Given the description of an element on the screen output the (x, y) to click on. 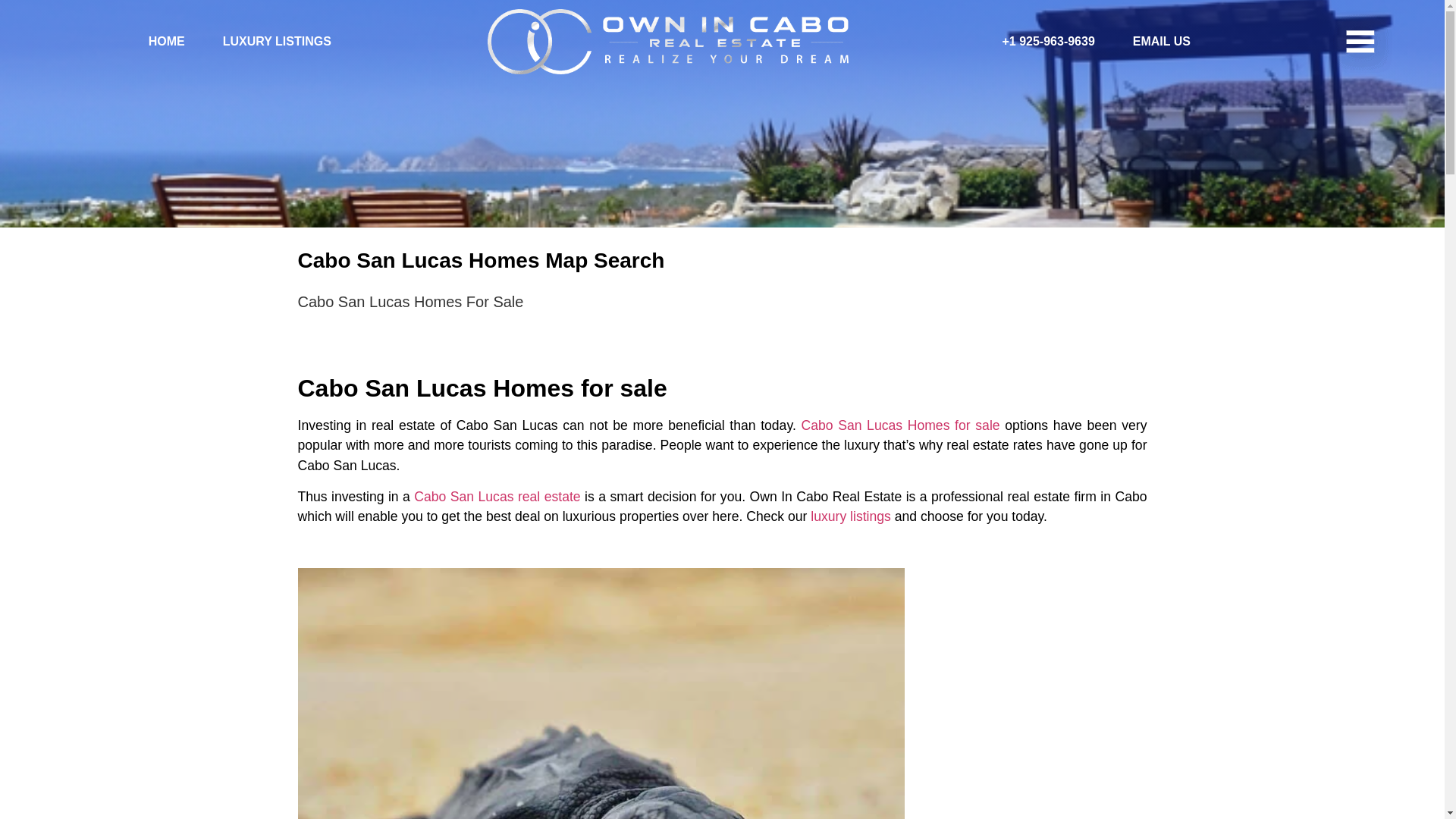
luxury listings (850, 516)
EMAIL US (1152, 41)
LUXURY LISTINGS (267, 41)
Cabo San Lucas real estate (496, 496)
HOME (156, 41)
Cabo San Lucas Homes for sale (899, 425)
